Given the description of an element on the screen output the (x, y) to click on. 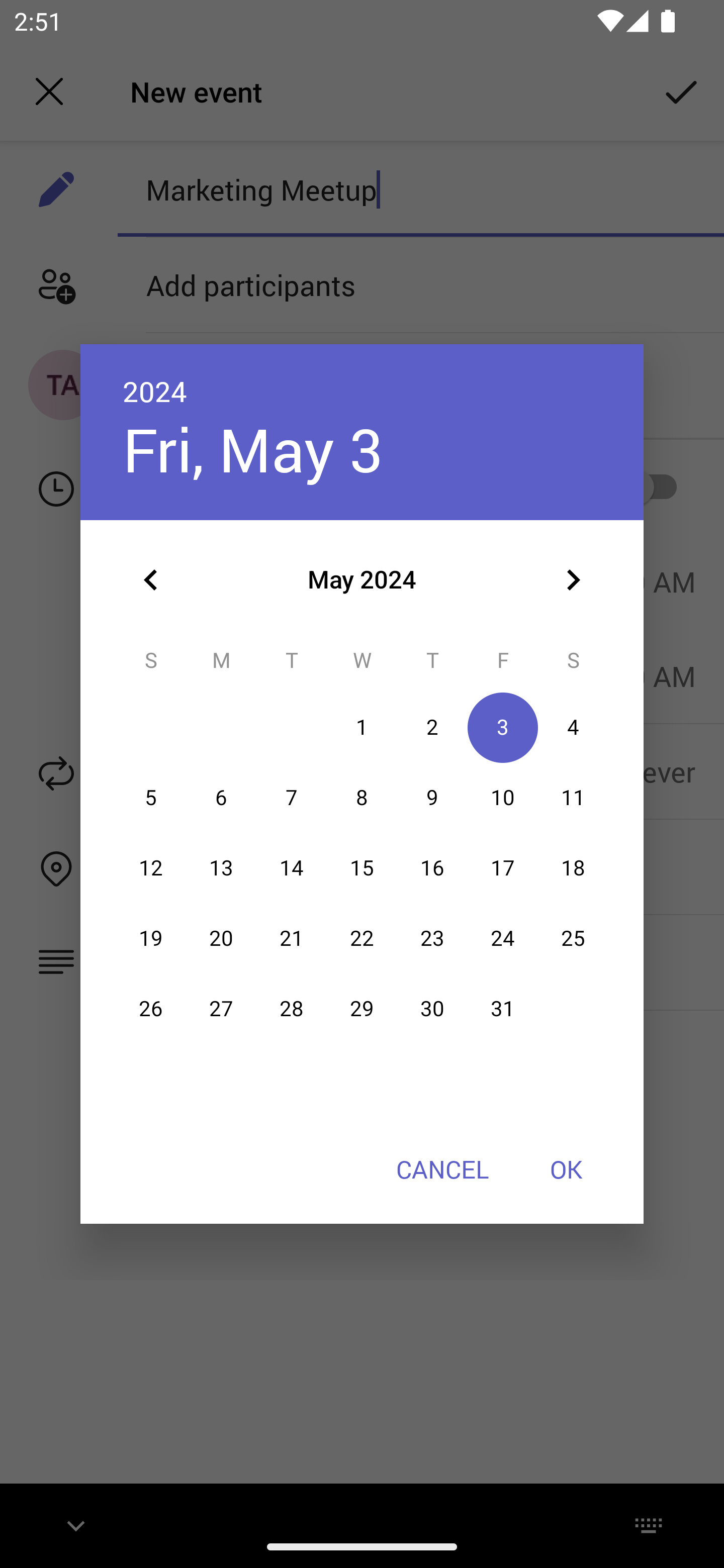
2024 (154, 391)
Fri, May 3 (252, 449)
Previous month (150, 579)
Next month (572, 579)
1 01 May 2024 (361, 728)
2 02 May 2024 (432, 728)
3 03 May 2024 (502, 728)
4 04 May 2024 (572, 728)
5 05 May 2024 (150, 797)
6 06 May 2024 (221, 797)
7 07 May 2024 (291, 797)
8 08 May 2024 (361, 797)
9 09 May 2024 (432, 797)
10 10 May 2024 (502, 797)
11 11 May 2024 (572, 797)
12 12 May 2024 (150, 867)
13 13 May 2024 (221, 867)
14 14 May 2024 (291, 867)
15 15 May 2024 (361, 867)
16 16 May 2024 (432, 867)
17 17 May 2024 (502, 867)
18 18 May 2024 (572, 867)
19 19 May 2024 (150, 938)
20 20 May 2024 (221, 938)
21 21 May 2024 (291, 938)
22 22 May 2024 (361, 938)
23 23 May 2024 (432, 938)
24 24 May 2024 (502, 938)
25 25 May 2024 (572, 938)
26 26 May 2024 (150, 1008)
27 27 May 2024 (221, 1008)
28 28 May 2024 (291, 1008)
29 29 May 2024 (361, 1008)
30 30 May 2024 (432, 1008)
31 31 May 2024 (502, 1008)
CANCEL (442, 1168)
OK (565, 1168)
